Given the description of an element on the screen output the (x, y) to click on. 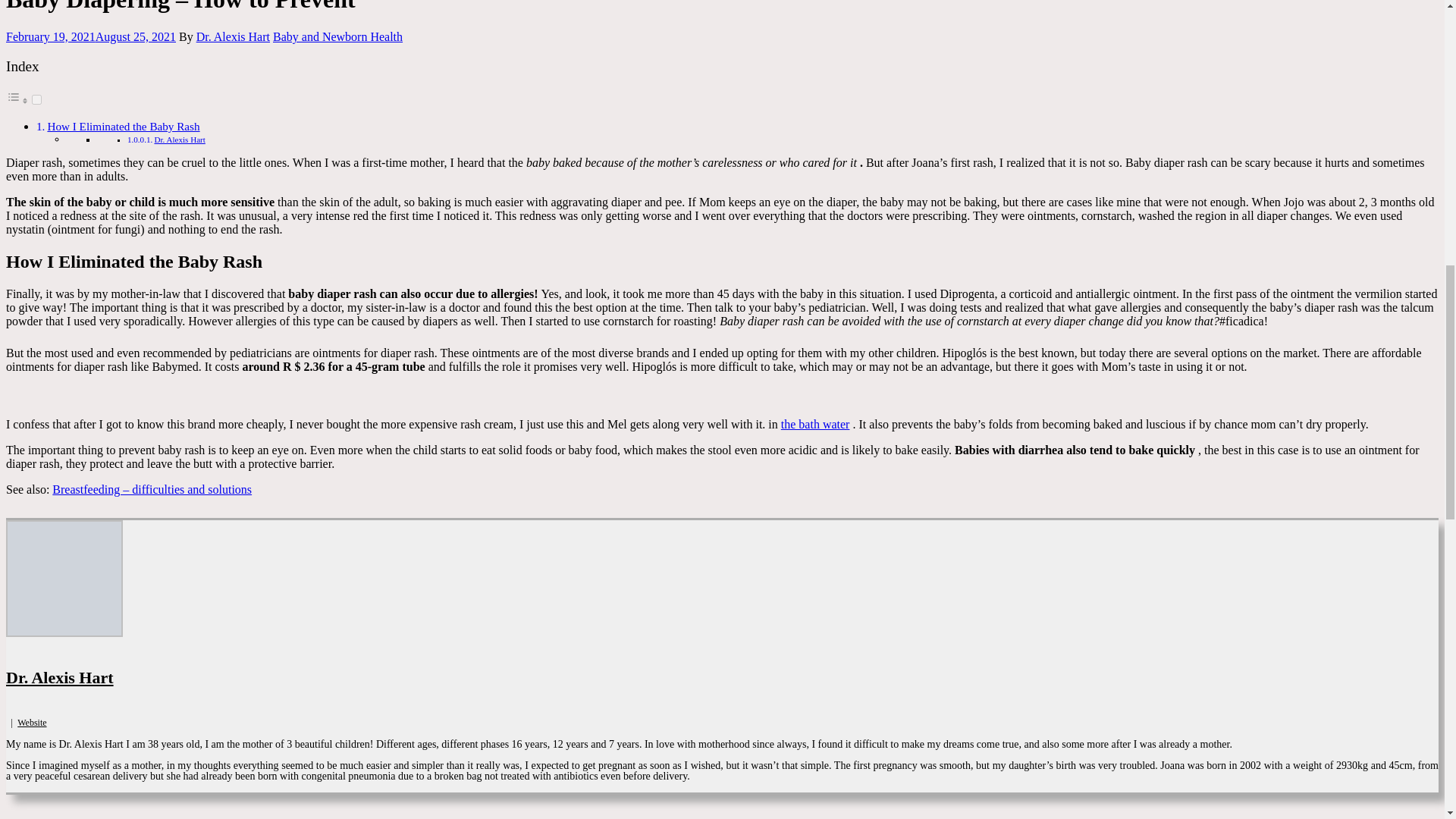
How I Eliminated the Baby Rash (122, 125)
on (37, 99)
Dr. Alexis Hart (179, 139)
